Given the description of an element on the screen output the (x, y) to click on. 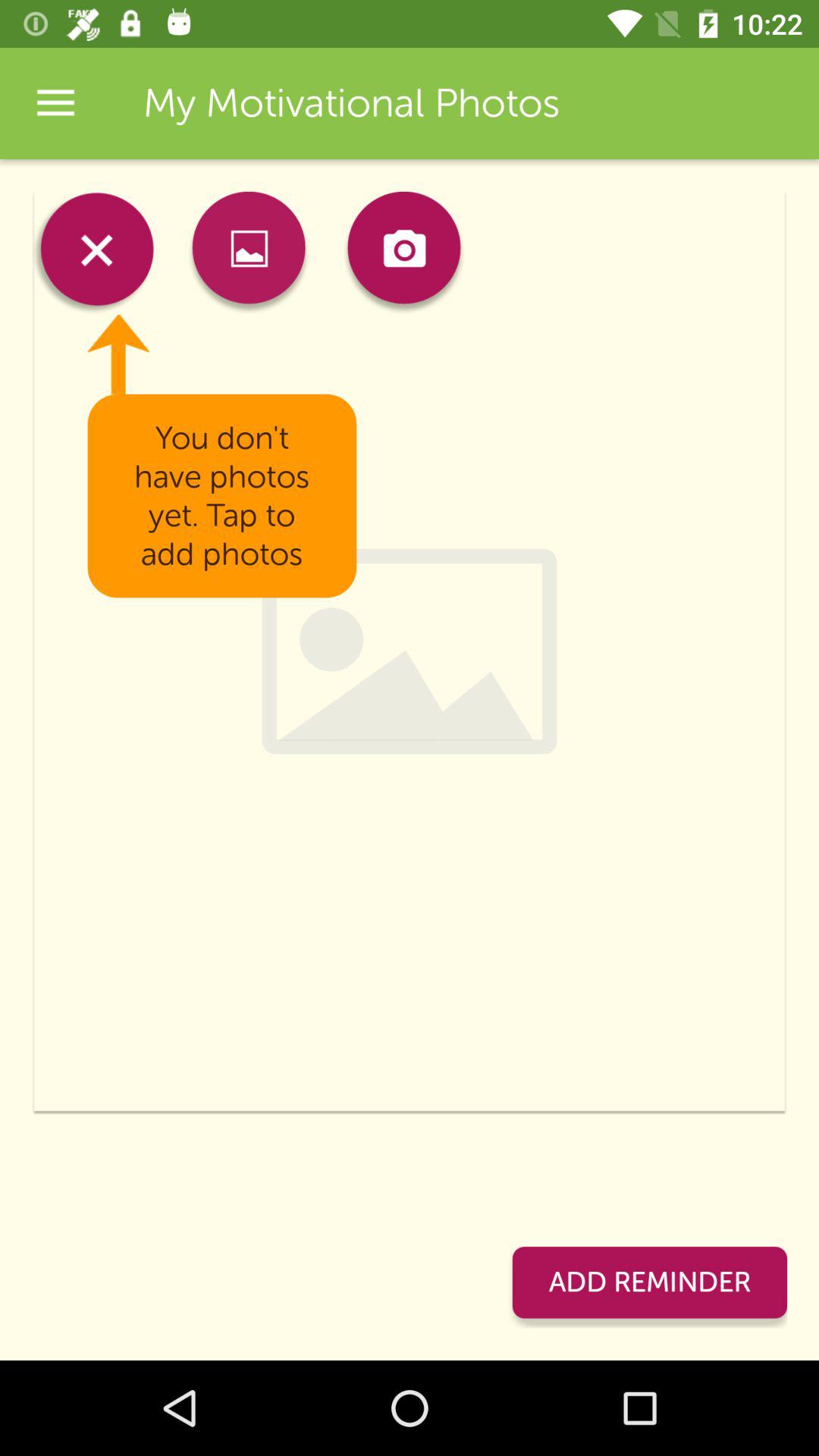
choose add reminder icon (649, 1282)
